Given the description of an element on the screen output the (x, y) to click on. 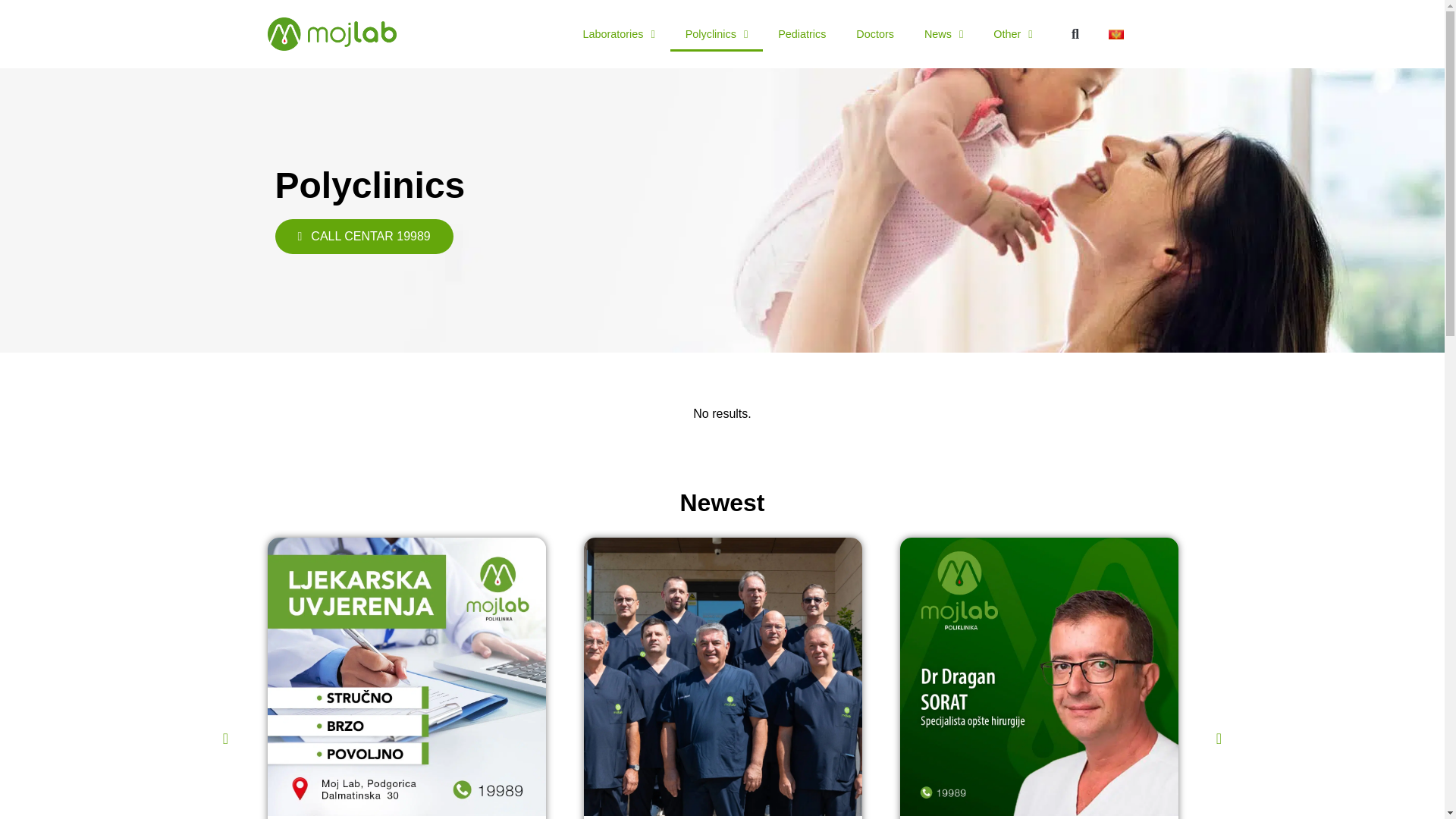
Pediatrics (801, 33)
Polyclinics (715, 33)
Other (1012, 33)
Laboratories (618, 33)
News (943, 33)
Doctors (874, 33)
